Given the description of an element on the screen output the (x, y) to click on. 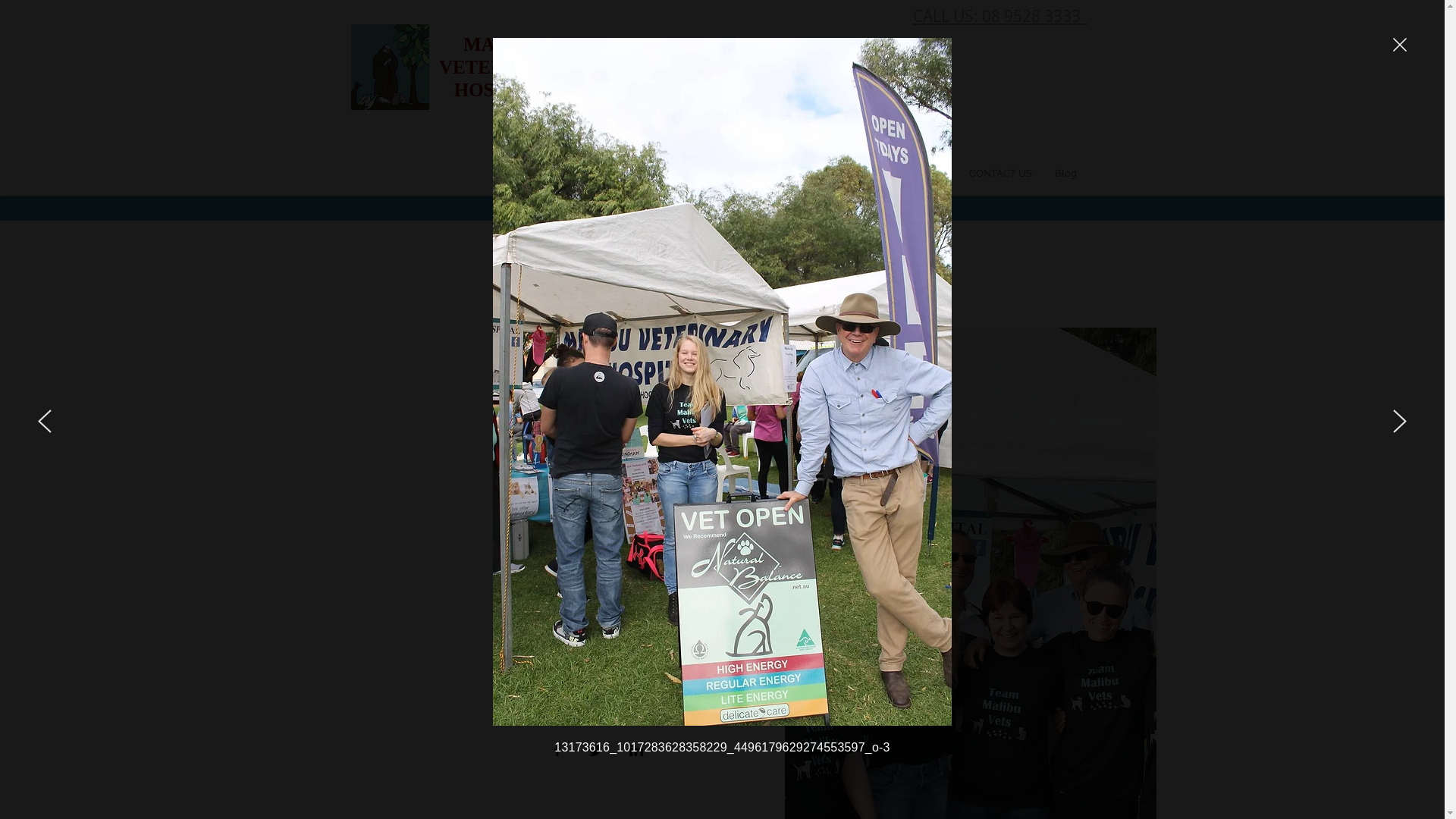
RSPCA Million Paws Walk Element type: text (598, 470)
EVENTS Element type: text (926, 173)
Details Element type: text (599, 704)
MALIBU VETERINARY HOSPITAL Element type: text (502, 67)
CALL US: 08 9528 3333   Element type: text (1000, 14)
Blog Element type: text (1065, 173)
mvh_logo_edited.png Element type: hover (389, 66)
ABOUT OUR CLINIC Element type: text (838, 173)
HOME Element type: text (754, 173)
CONTACT US Element type: text (999, 173)
